Given the description of an element on the screen output the (x, y) to click on. 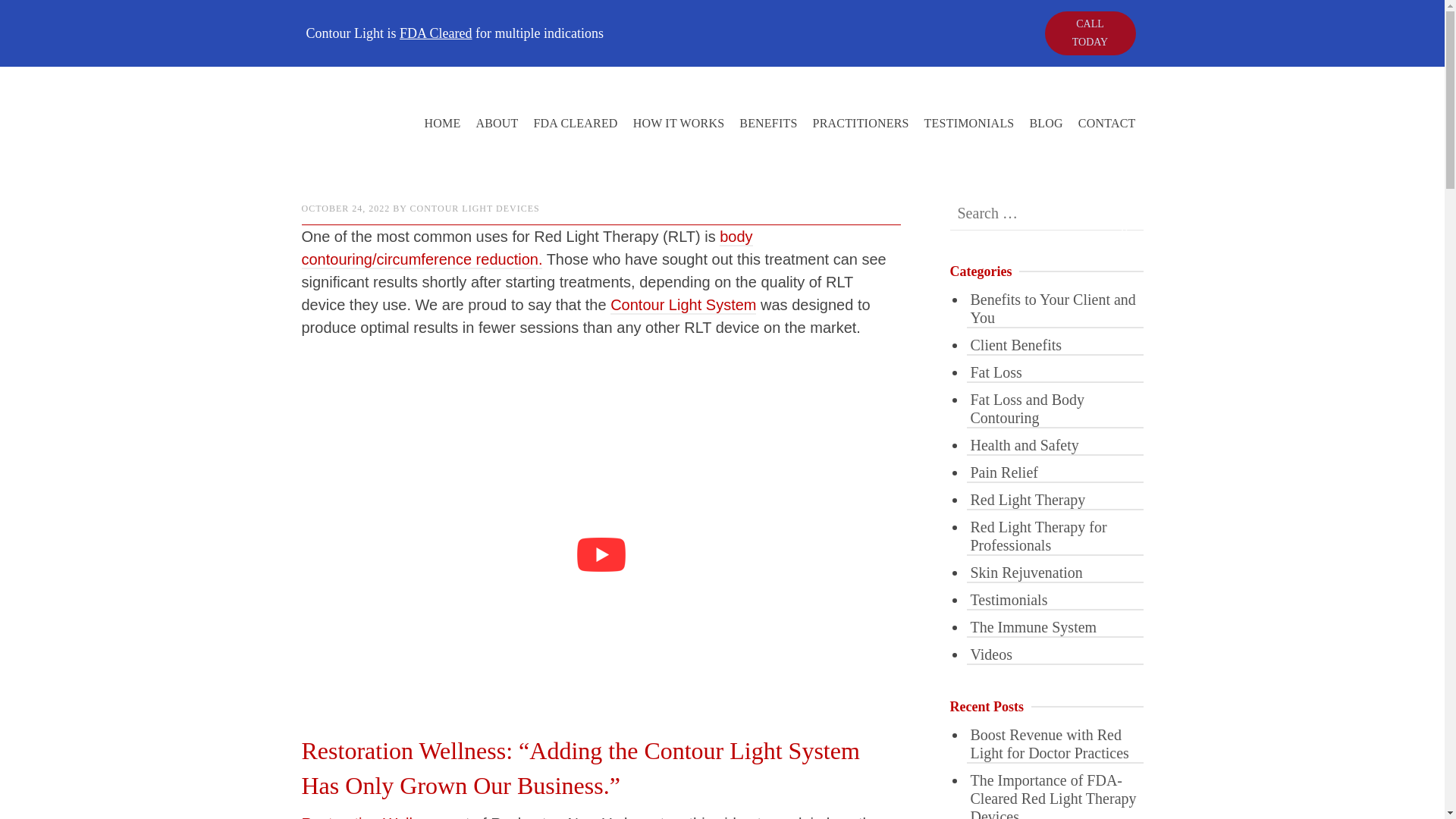
FAT LOSS AND BODY CONTOURING (421, 162)
ABOUT (496, 123)
CALL TODAY (1089, 32)
Restoration Wellness (373, 816)
CONTOUR LIGHT DEVICES (475, 208)
Contour Light System (682, 305)
PRACTITIONERS (861, 123)
HOW IT WORKS (679, 123)
BLOG (1046, 123)
TESTIMONIALS (969, 123)
HOME (315, 162)
CONTACT (1106, 123)
FDA Cleared (434, 32)
CALL TODAY (1090, 33)
HOME (441, 123)
